Given the description of an element on the screen output the (x, y) to click on. 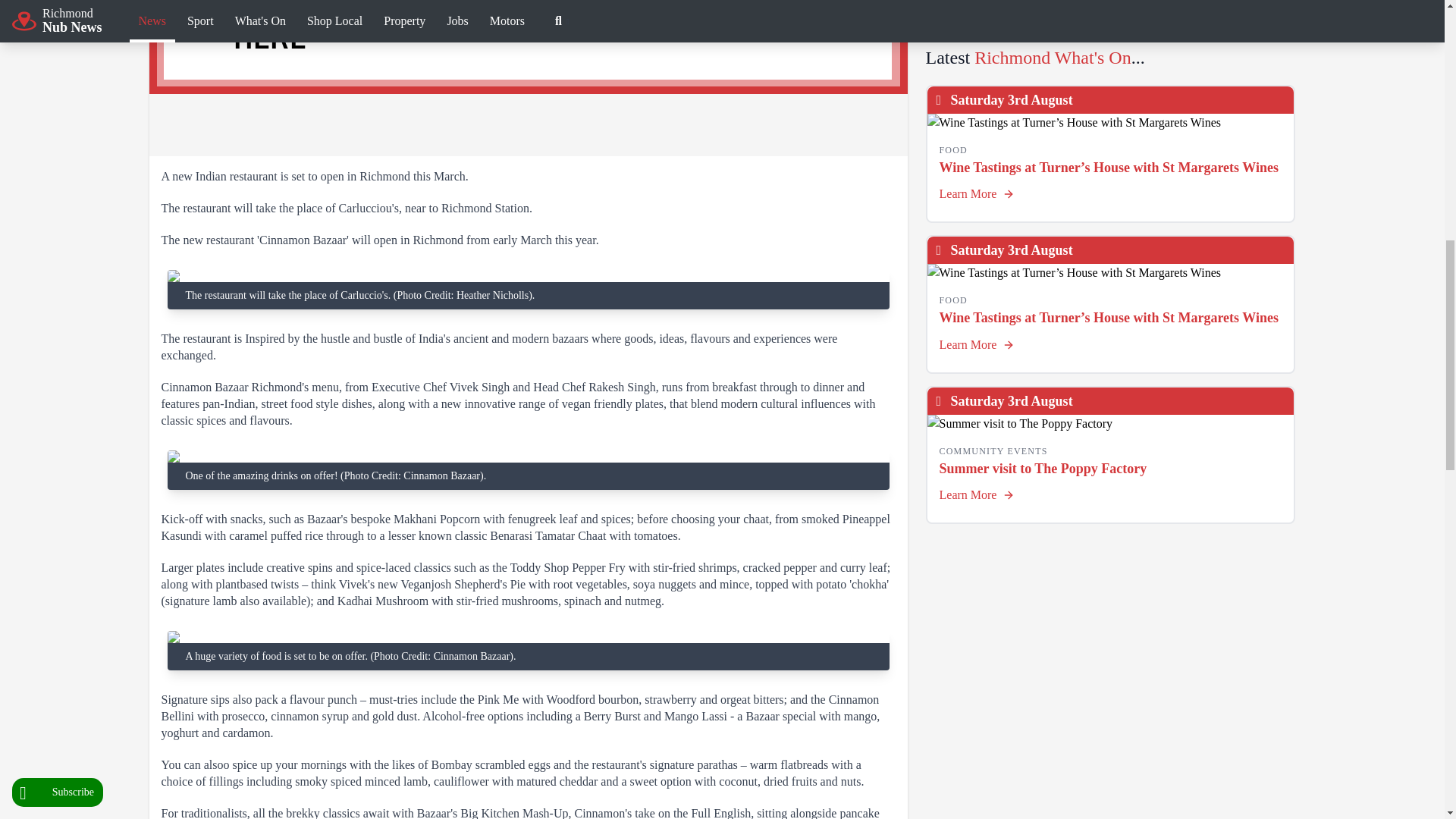
Summer visit to The Poppy Factory (1110, 423)
